Given the description of an element on the screen output the (x, y) to click on. 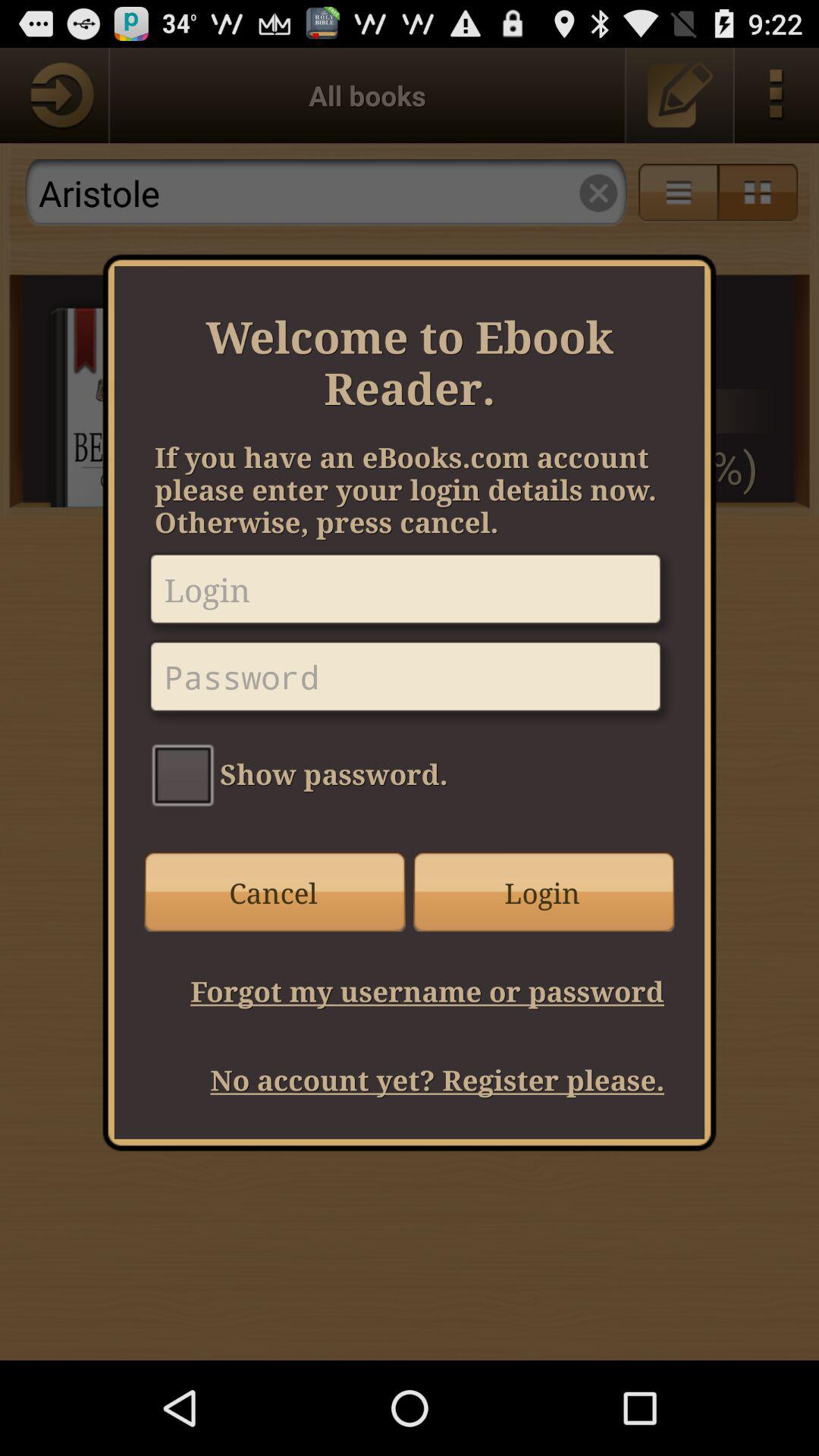
enter login (409, 594)
